Given the description of an element on the screen output the (x, y) to click on. 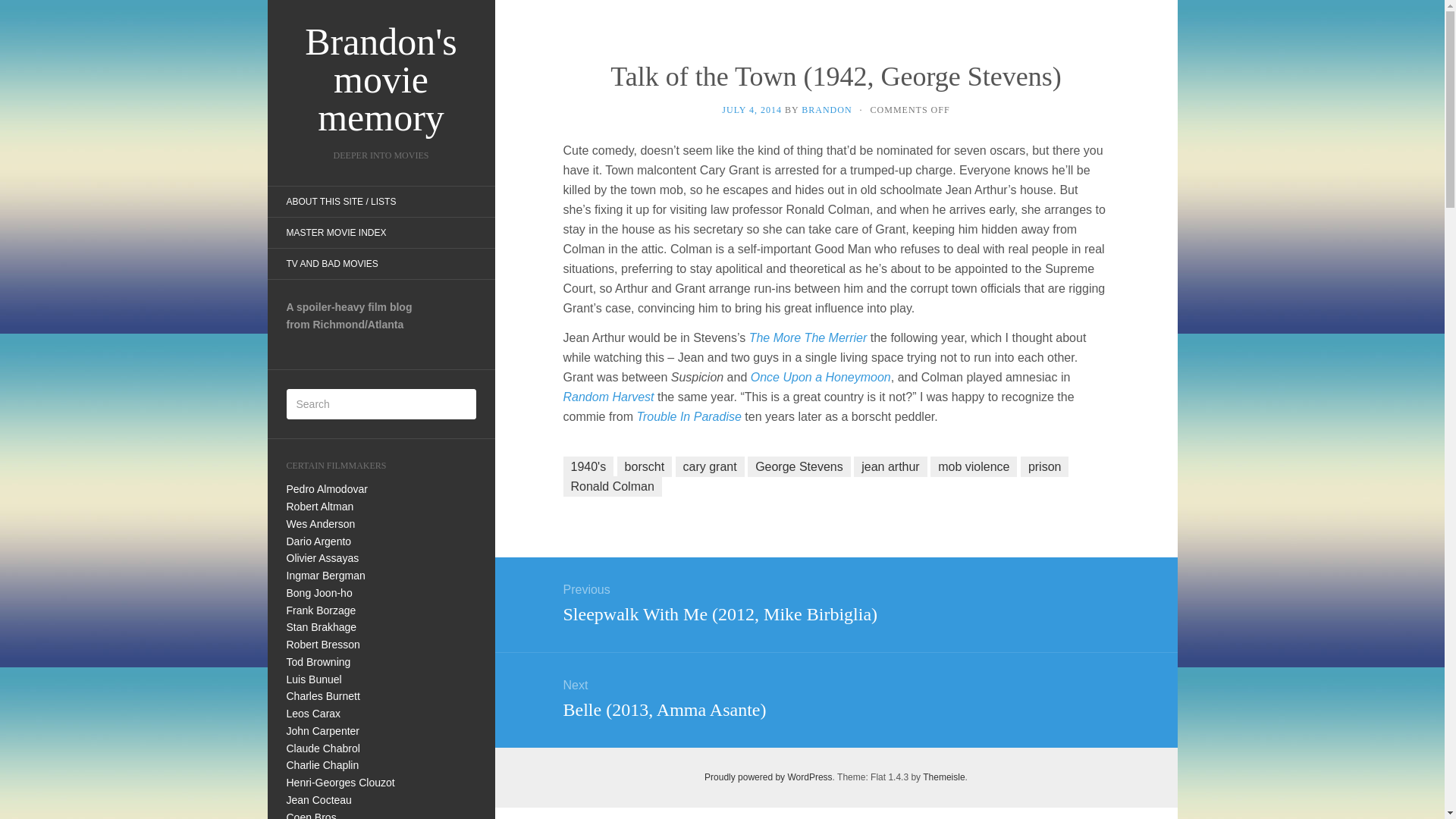
Brandon's movie memory (380, 79)
Dario Argento (319, 541)
Ingmar Bergman (325, 575)
Coen Bros. (312, 815)
John Carpenter (322, 730)
Jean Cocteau (319, 799)
Tod Browning (318, 662)
Brandon's movie memory (380, 79)
Leos Carax (313, 713)
Bong Joon-ho (319, 592)
Charles Burnett (322, 695)
Stan Brakhage (321, 626)
Frank Borzage (321, 609)
Olivier Assayas (322, 558)
Robert Altman (319, 506)
